Given the description of an element on the screen output the (x, y) to click on. 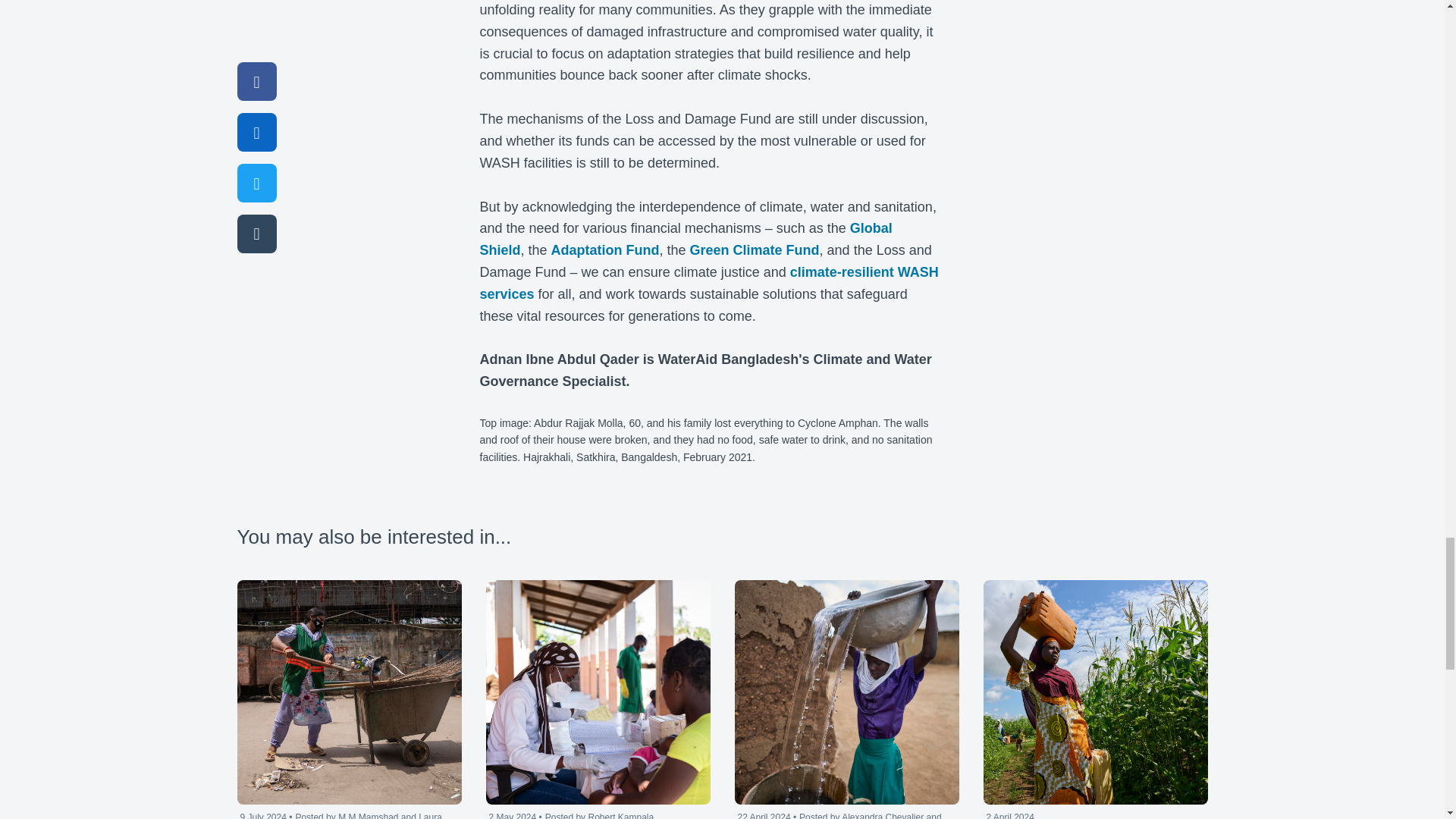
Adaptation Fund (605, 249)
Global Shield (685, 238)
